Given the description of an element on the screen output the (x, y) to click on. 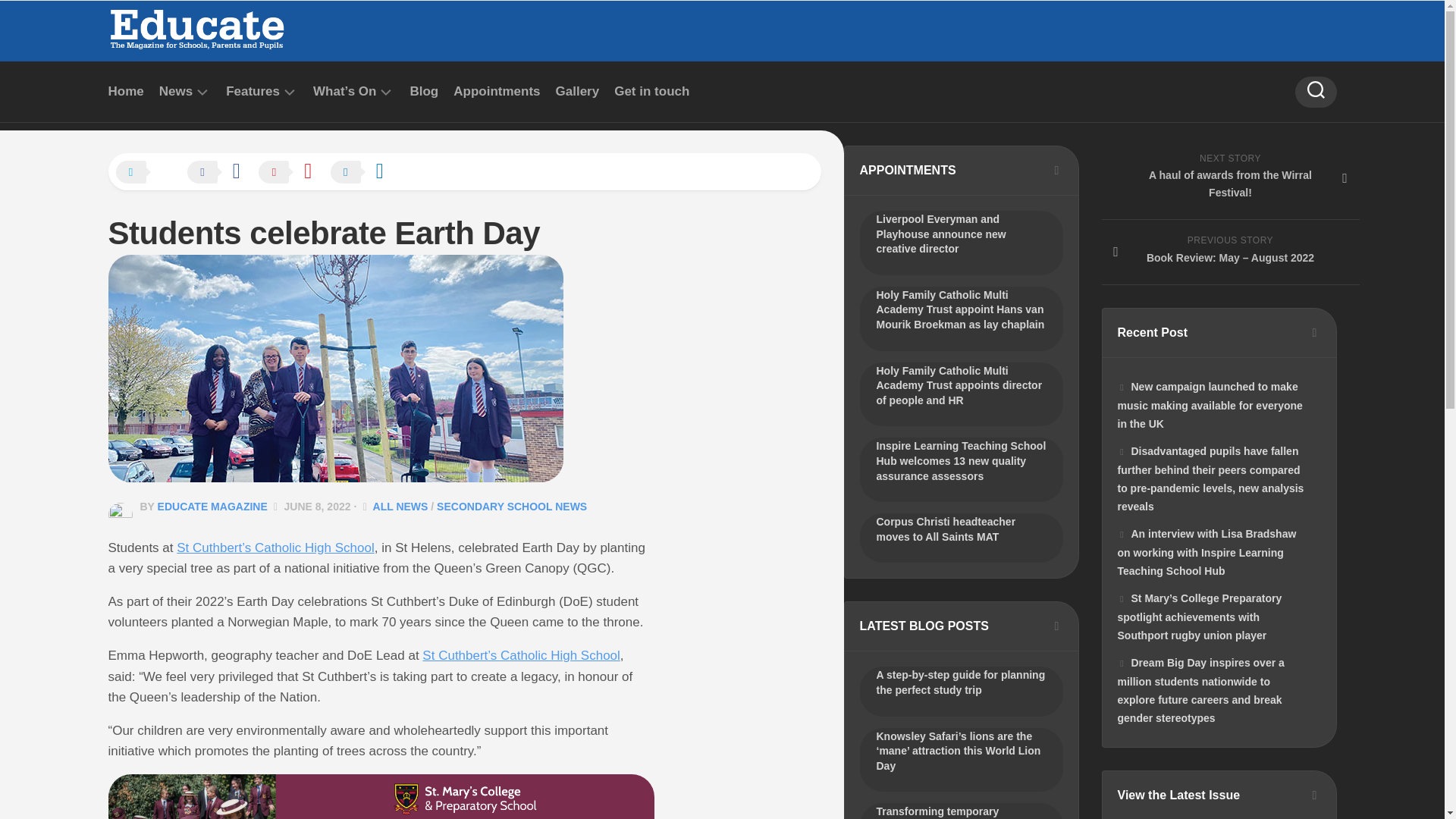
Features (252, 91)
SECONDARY SCHOOL NEWS (511, 506)
Home (124, 91)
Gallery (577, 91)
Share on X (149, 172)
EDUCATE MAGAZINE (212, 506)
Blog (423, 91)
Get in touch (651, 91)
Posts by Educate Magazine (212, 506)
Appointments (496, 91)
Share on Facebook (221, 172)
ALL NEWS (400, 506)
Share on Pinterest (292, 172)
Share on LinkedIn (364, 172)
News (175, 91)
